Given the description of an element on the screen output the (x, y) to click on. 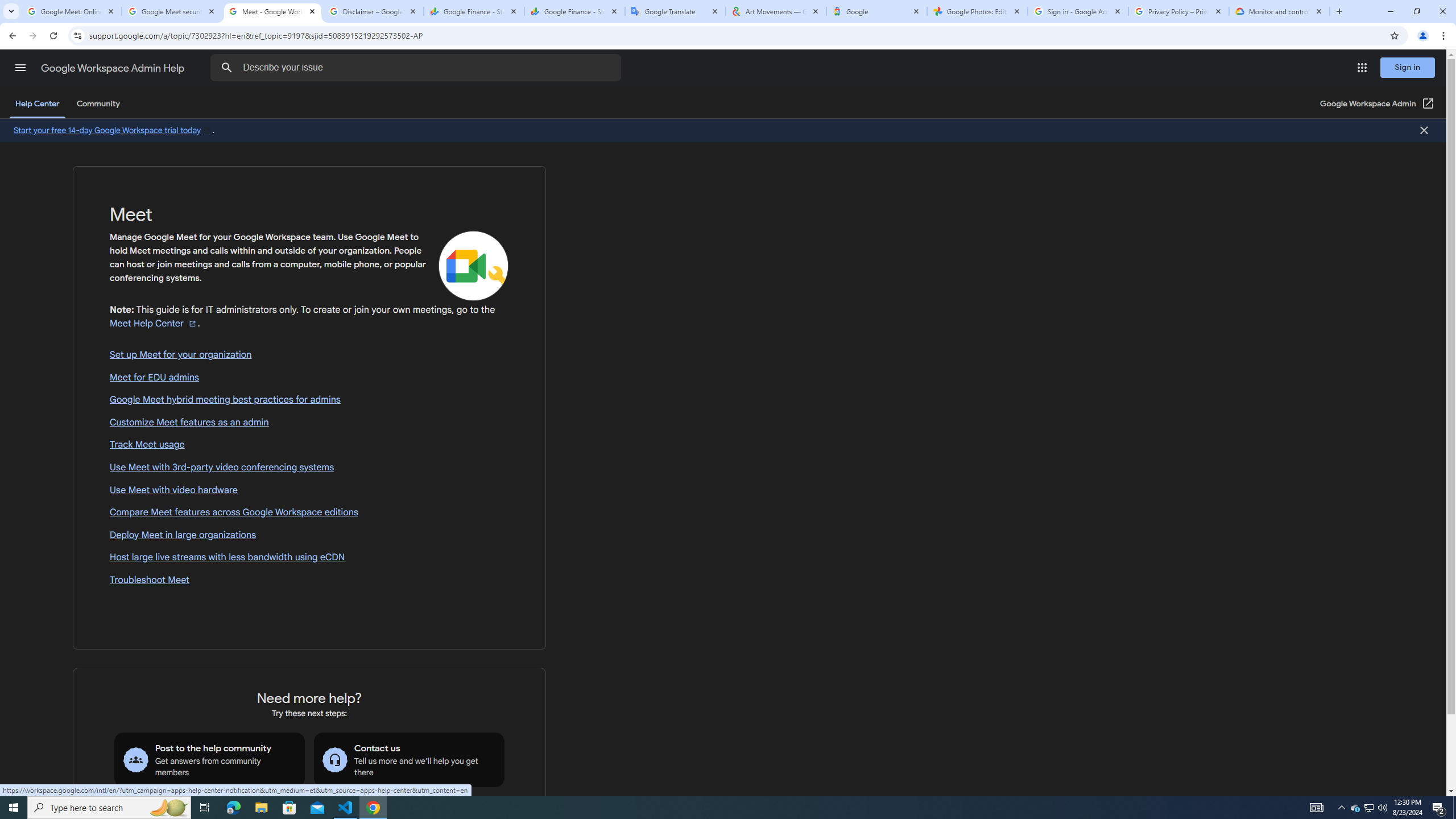
Google Meet hybrid meeting best practices for admins (309, 400)
Sign in - Google Accounts (1078, 11)
Use Meet with video hardware (309, 490)
Community (97, 103)
Compare Meet features across Google Workspace editions (309, 512)
Meet for EDU admins (309, 377)
Google Translate (675, 11)
